Given the description of an element on the screen output the (x, y) to click on. 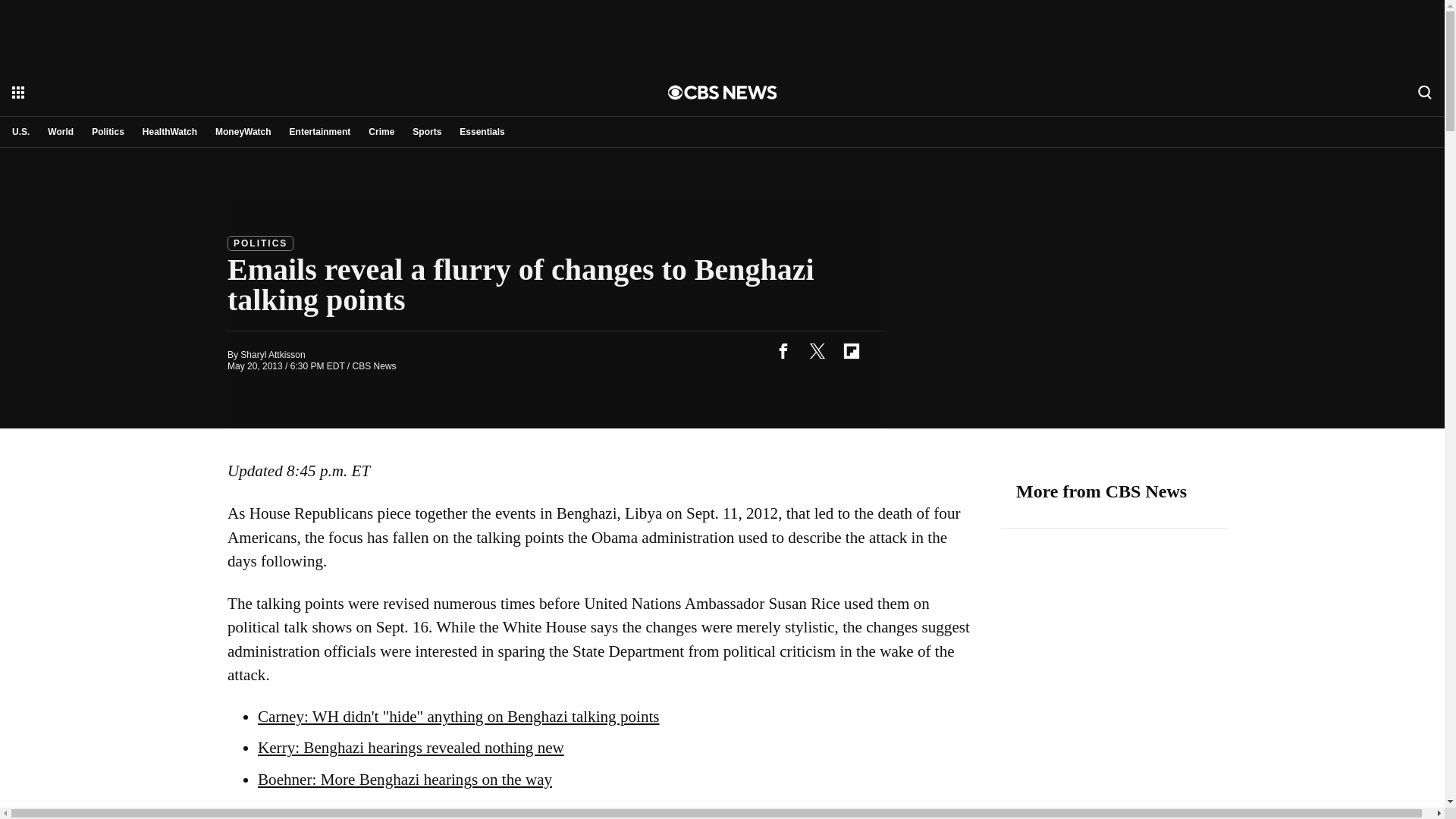
twitter (816, 350)
facebook (782, 350)
flipboard (850, 350)
